Given the description of an element on the screen output the (x, y) to click on. 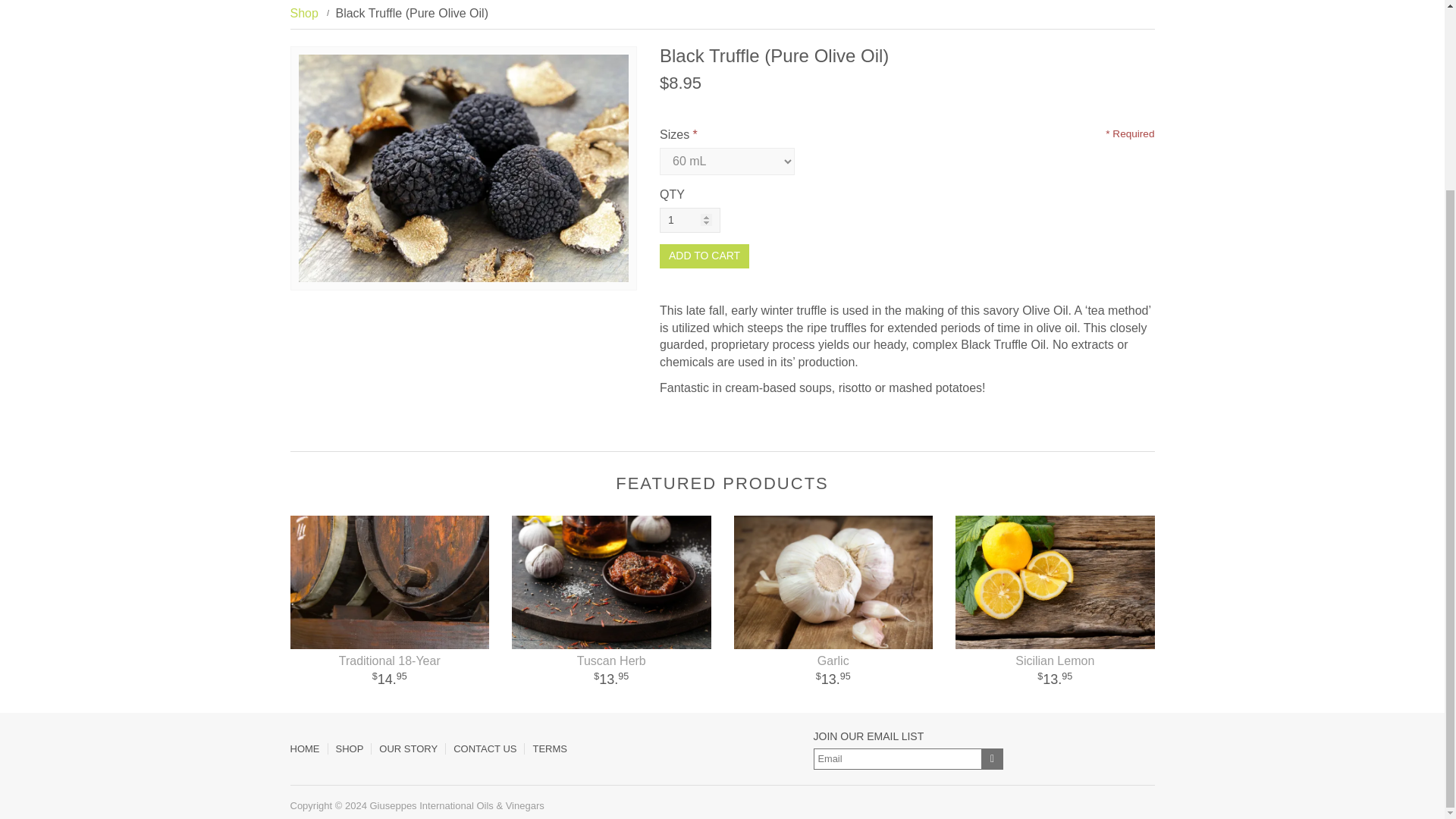
HOME (307, 748)
Shop (303, 12)
Add to Cart (704, 256)
1 (689, 220)
SHOP (349, 748)
OUR STORY (408, 748)
CONTACT US (484, 748)
Add to Cart (704, 256)
